Given the description of an element on the screen output the (x, y) to click on. 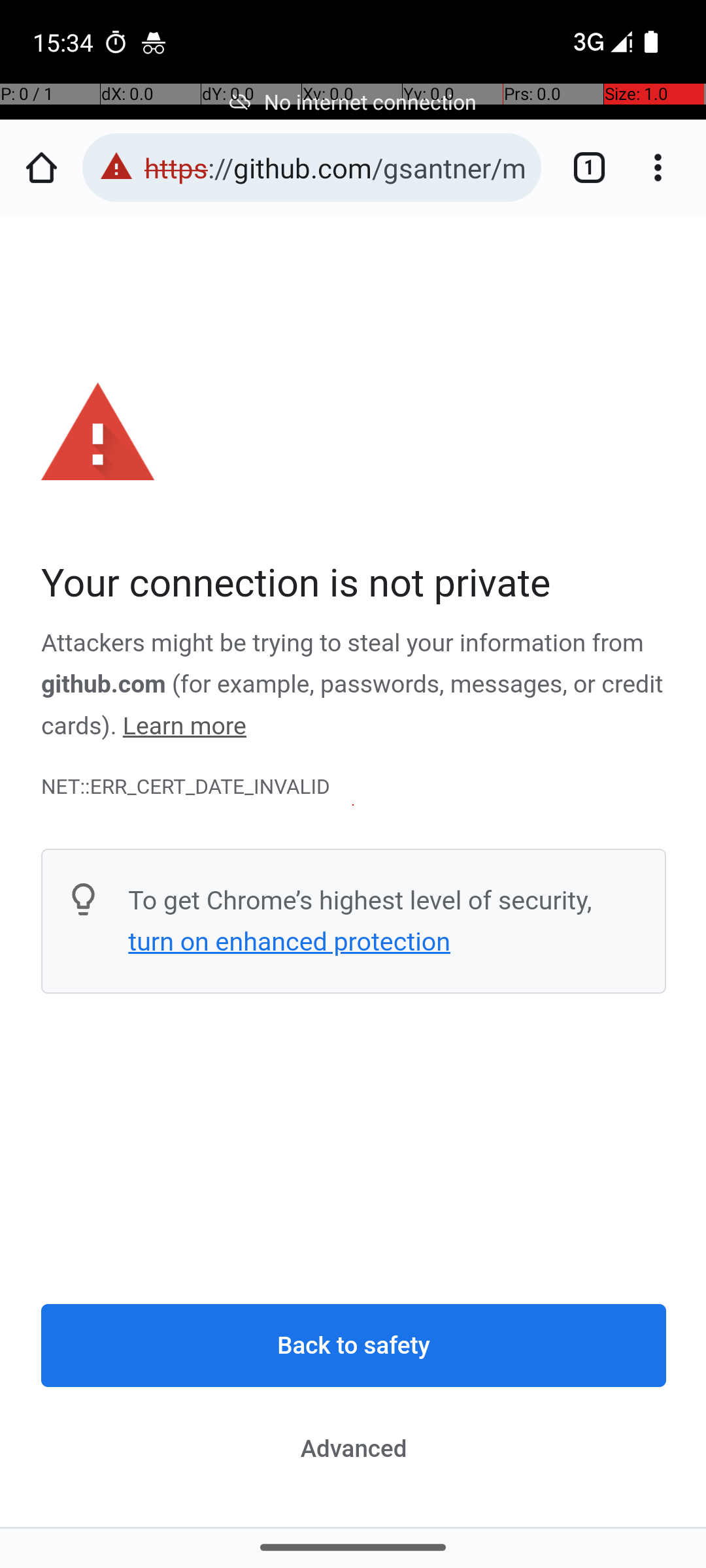
https://github.com/gsantner/markor/issues/new/choose Element type: android.widget.EditText (335, 167)
